Given the description of an element on the screen output the (x, y) to click on. 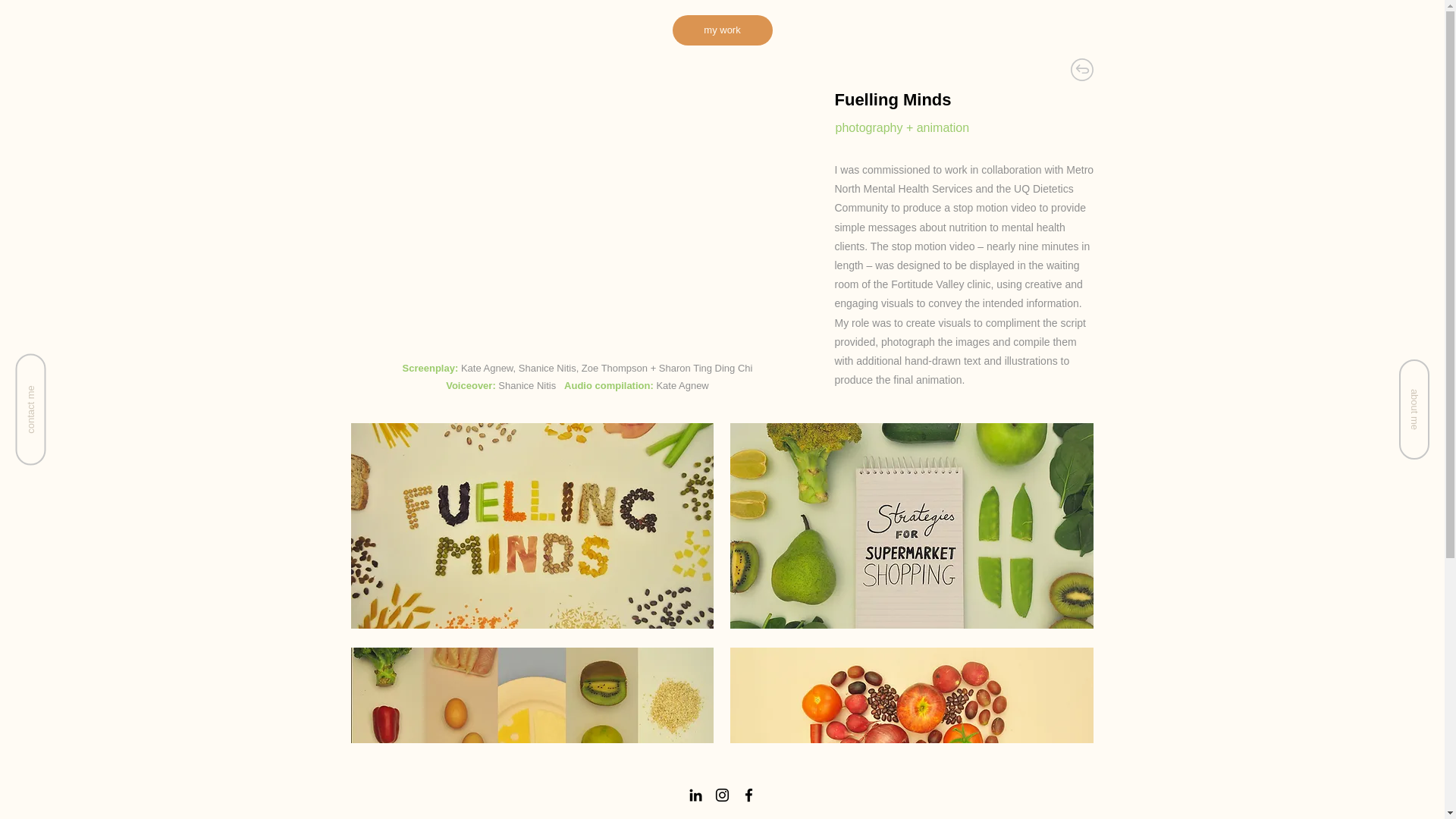
External YouTube (576, 217)
contact me (70, 368)
my work (721, 30)
